Given the description of an element on the screen output the (x, y) to click on. 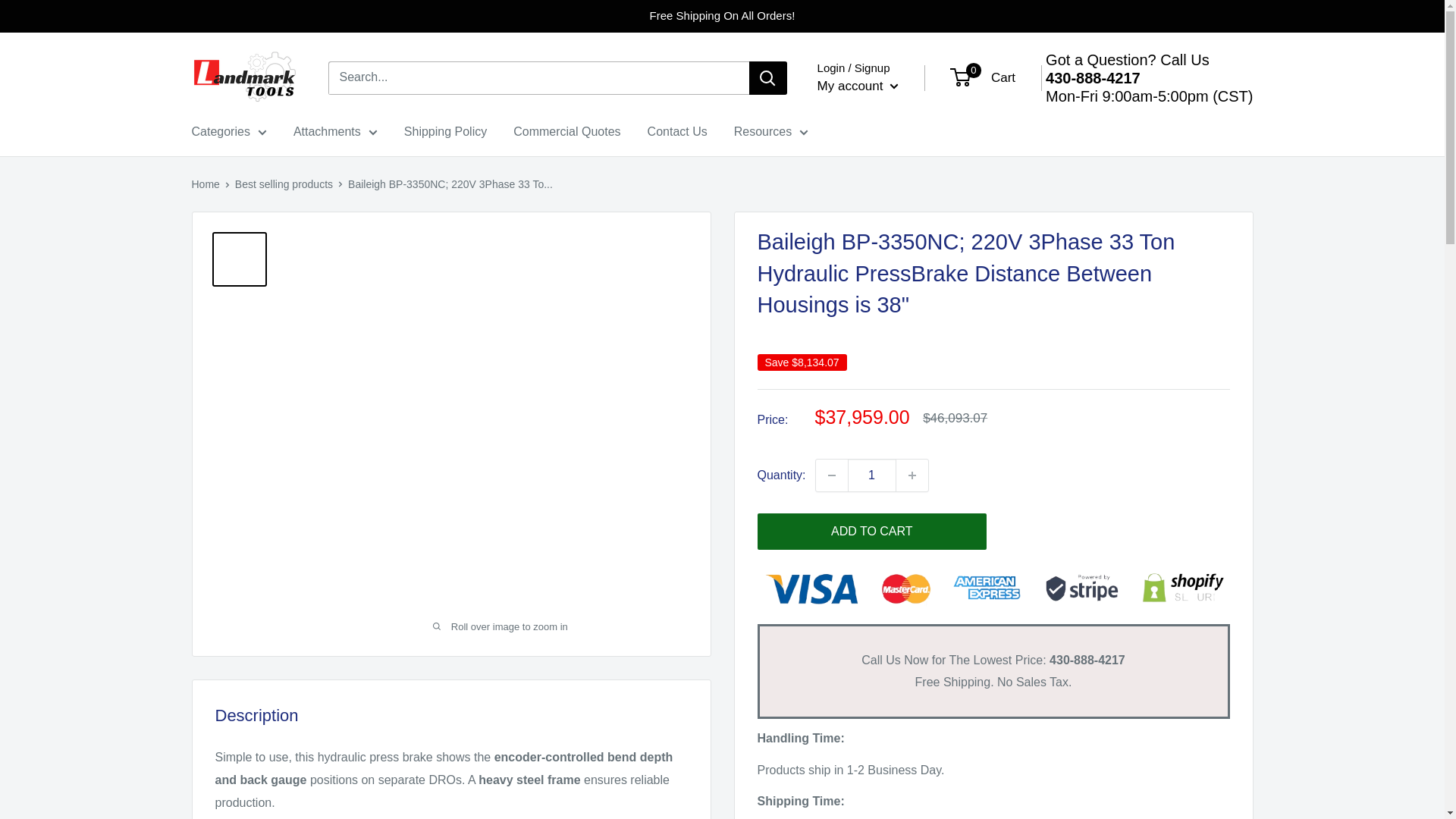
Decrease quantity by 1 (831, 475)
Increase quantity by 1 (912, 475)
1 (871, 475)
